Given the description of an element on the screen output the (x, y) to click on. 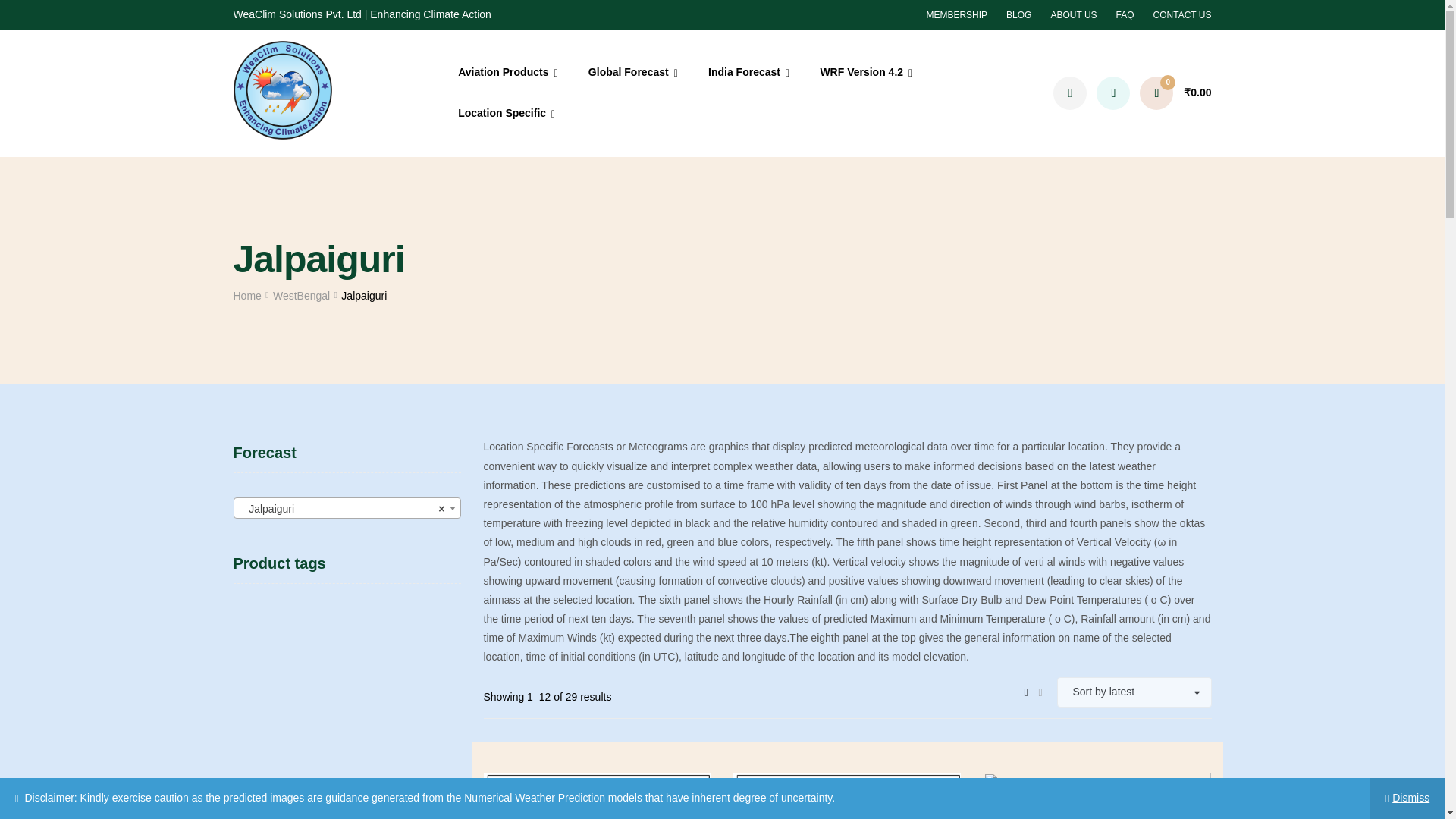
List View (1040, 691)
Aviation Products (508, 72)
MEMBERSHIP (956, 14)
View your shopping cart (1175, 92)
FAQ (1125, 14)
Grid View (1026, 691)
CONTACT US (1182, 14)
BLOG (1018, 14)
ABOUT US (1072, 14)
